Given the description of an element on the screen output the (x, y) to click on. 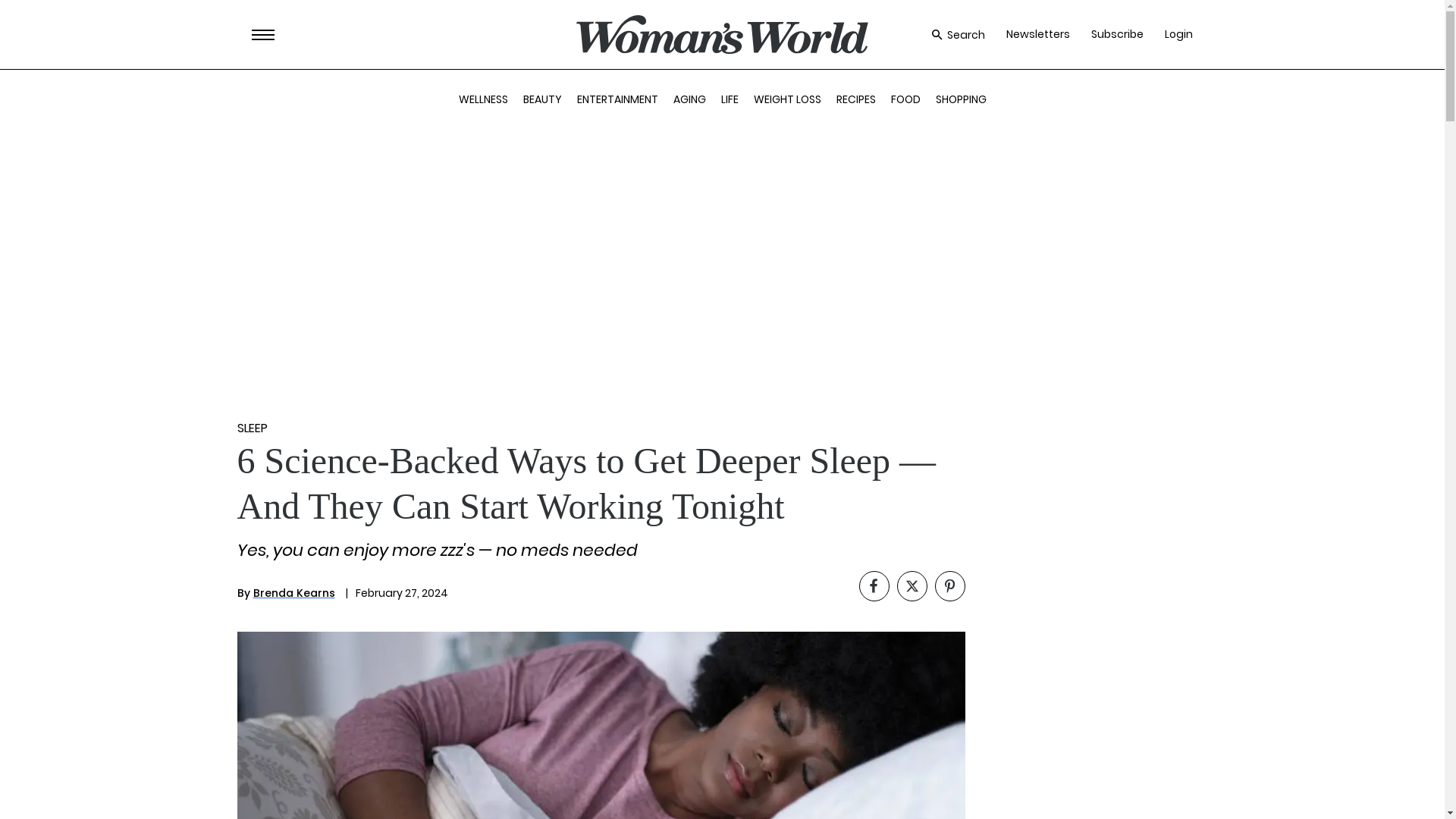
MENU (263, 34)
Newsletters (1038, 33)
Click to share on Facebook (873, 585)
Subscribe (1116, 33)
Click to share on Twitter (911, 585)
Click to share on Pinterest (948, 585)
